Given the description of an element on the screen output the (x, y) to click on. 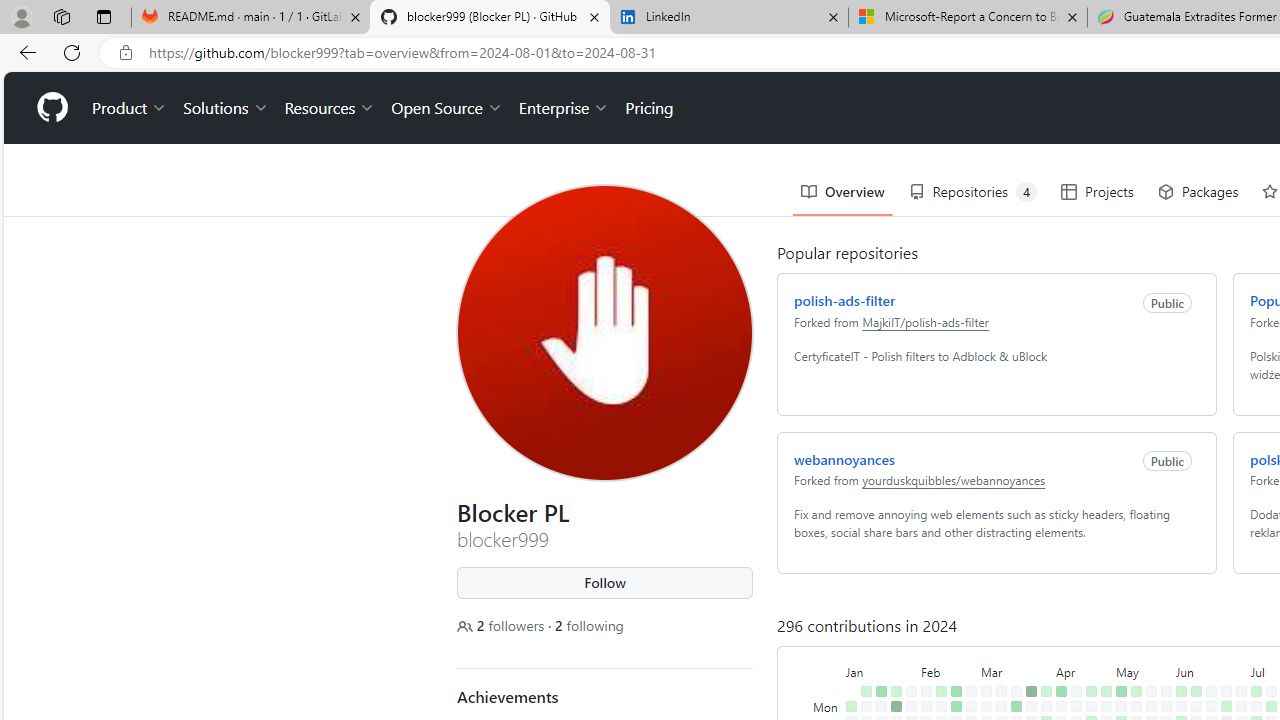
Product (130, 107)
23 contributions on January 22nd. (896, 706)
No contributions on May 6th. (1121, 706)
